Given the description of an element on the screen output the (x, y) to click on. 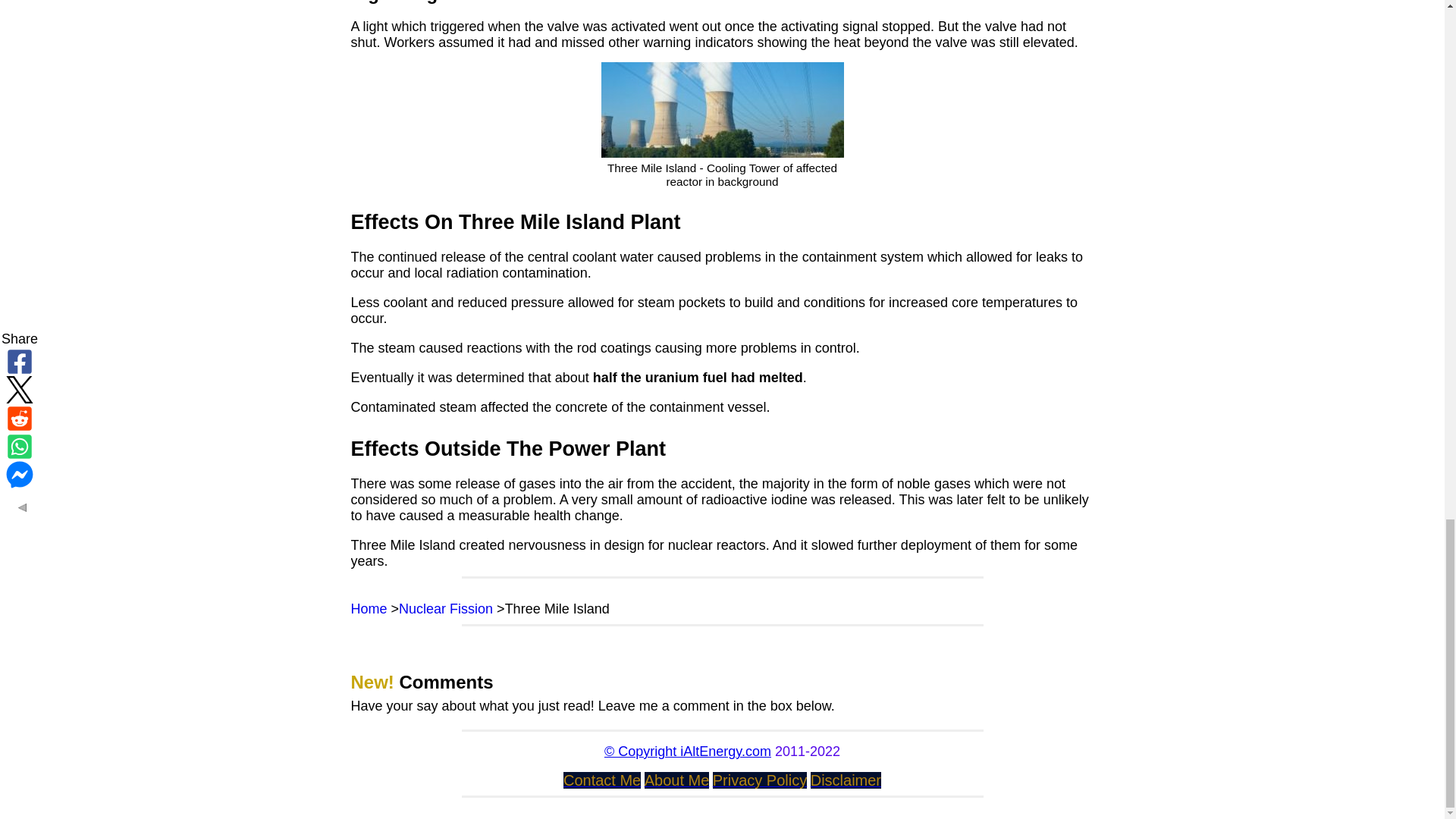
Nuclear Fission (445, 608)
Disclaimer (845, 780)
About Me (677, 780)
Home (368, 608)
Contact Me (601, 780)
Privacy Policy (759, 780)
